Given the description of an element on the screen output the (x, y) to click on. 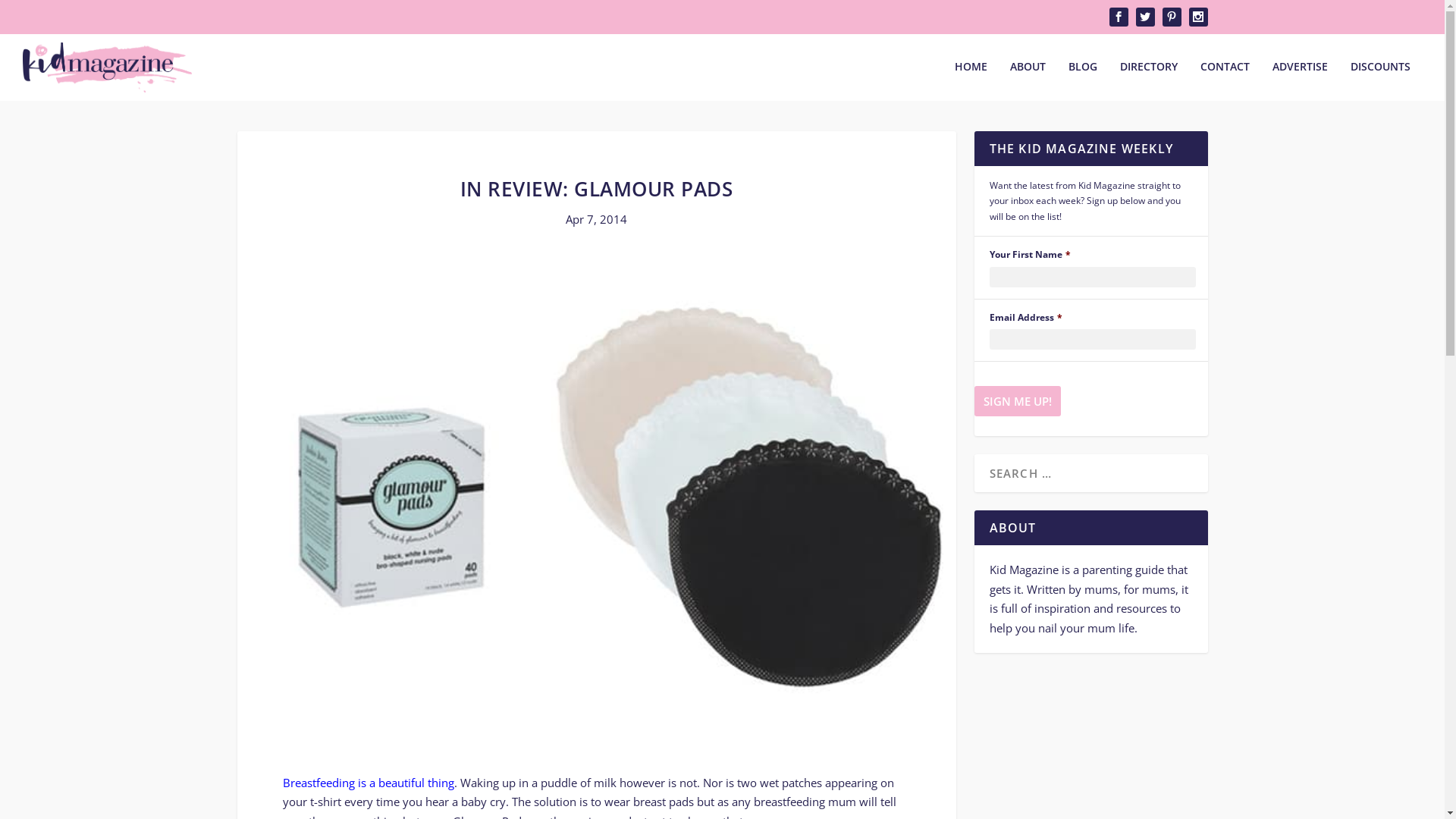
Sign me up! Element type: text (1016, 400)
Search Element type: text (30, 15)
BLOG Element type: text (1082, 80)
DISCOUNTS Element type: text (1380, 80)
ADVERTISE Element type: text (1299, 80)
ABOUT Element type: text (1027, 80)
CONTACT Element type: text (1224, 80)
HOME Element type: text (970, 80)
DIRECTORY Element type: text (1148, 80)
Breastfeeding is a beautiful thing Element type: text (367, 782)
